Given the description of an element on the screen output the (x, y) to click on. 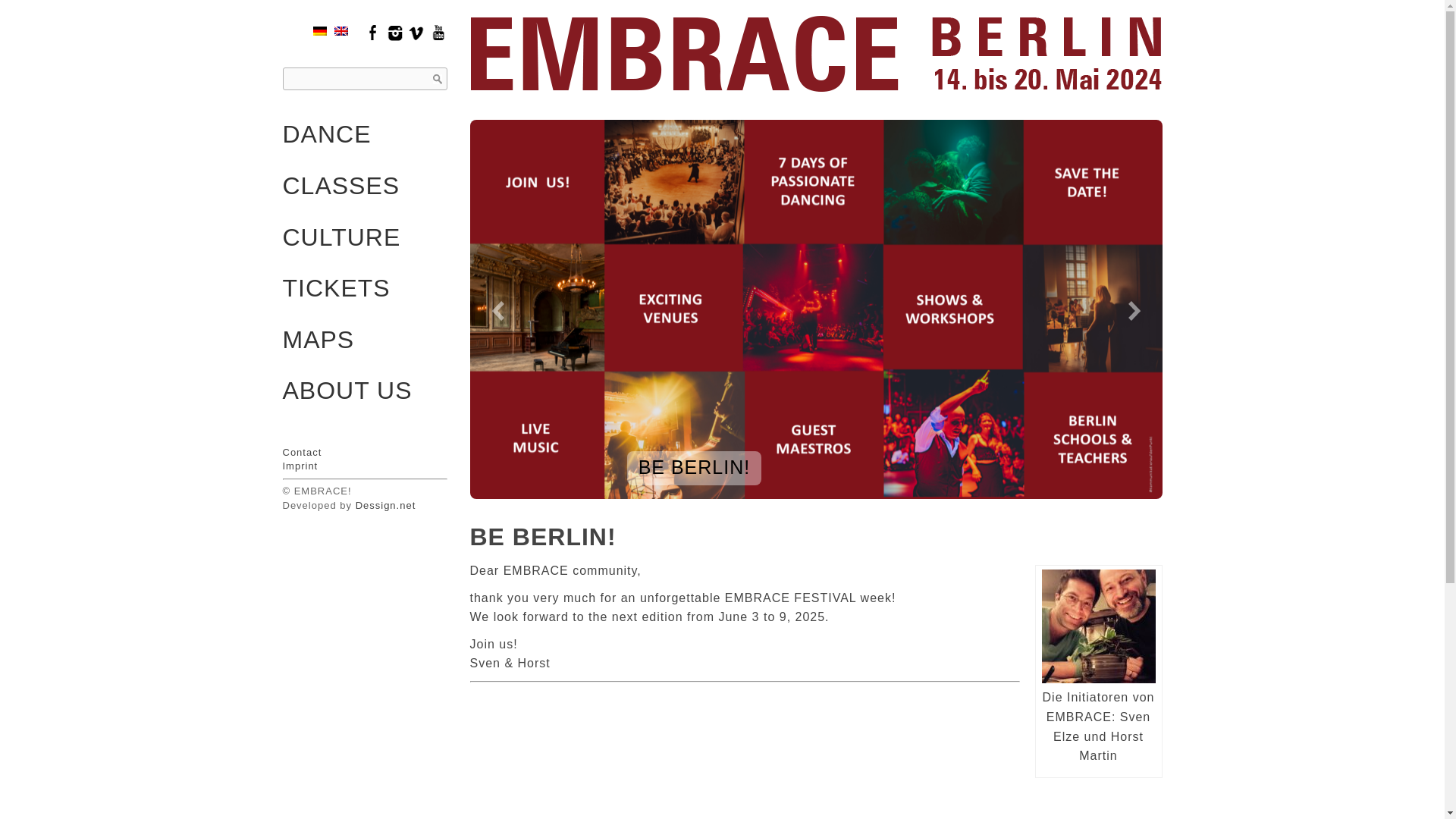
CLASSES (360, 186)
CULTURE (360, 238)
TICKETS (360, 288)
ABOUT US (364, 391)
MAPS (360, 340)
DANCE (360, 135)
